Given the description of an element on the screen output the (x, y) to click on. 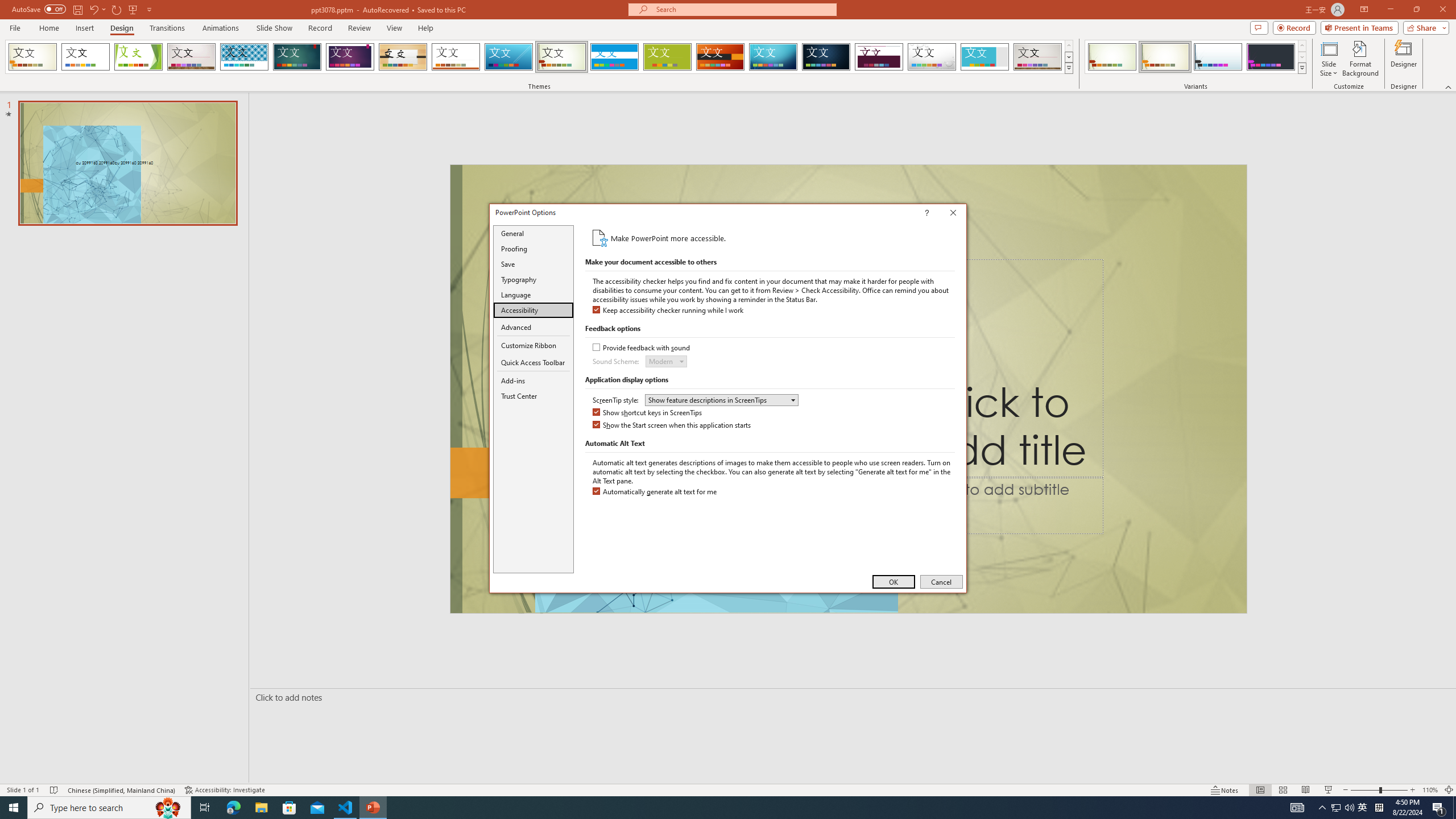
Office Theme (85, 56)
Frame Loading Preview... (984, 56)
ScreenTip style (721, 399)
Customize Ribbon (533, 344)
Gallery Loading Preview... (1037, 56)
Berlin Loading Preview... (720, 56)
